Given the description of an element on the screen output the (x, y) to click on. 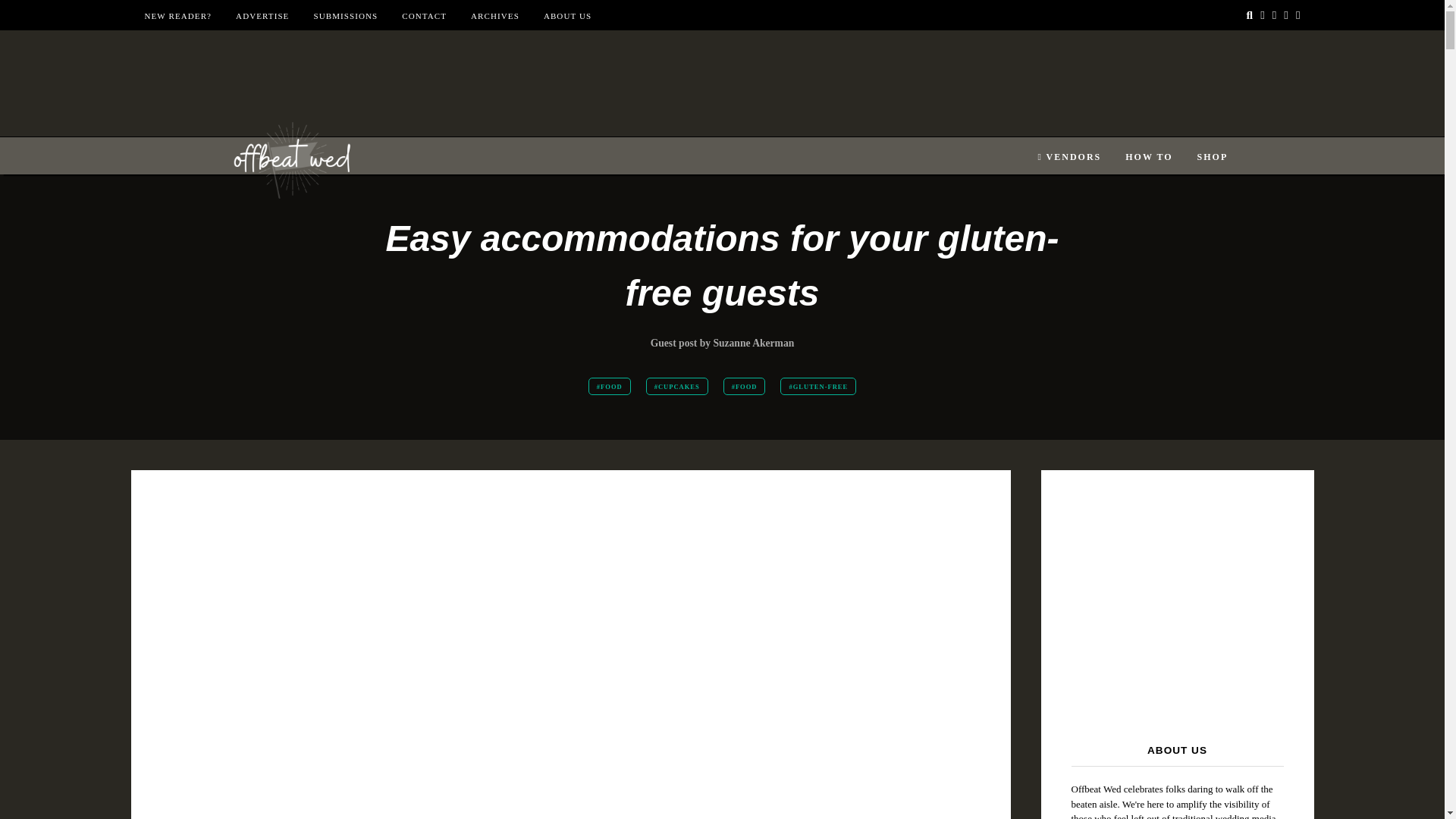
ARCHIVES (494, 15)
SUBMISSIONS (345, 15)
NEW READER? (177, 15)
ABOUT US (567, 15)
HOW TO (1148, 157)
CONTACT (423, 15)
ADVERTISE (261, 15)
